Given the description of an element on the screen output the (x, y) to click on. 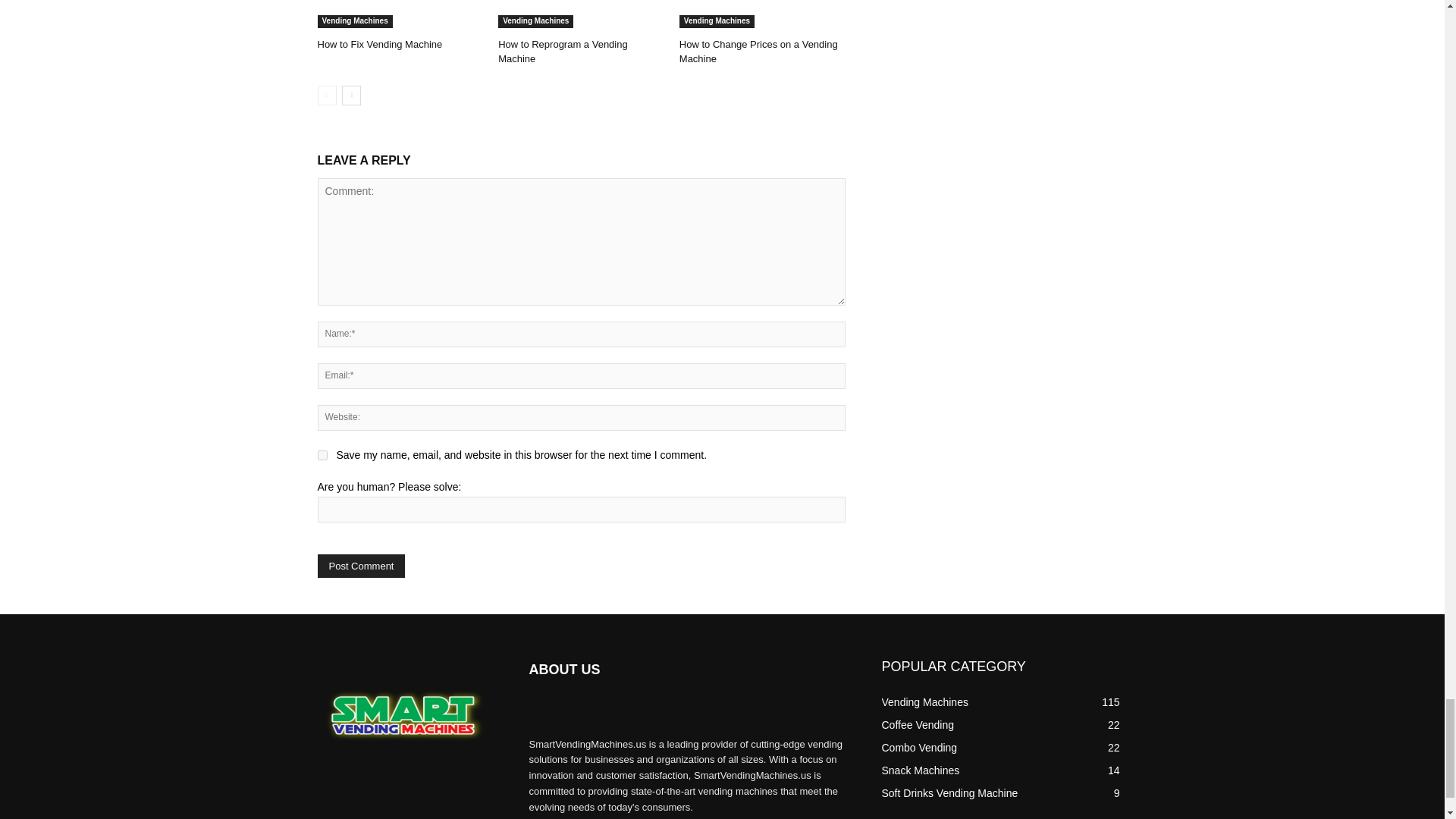
Post Comment (360, 566)
yes (321, 455)
